Given the description of an element on the screen output the (x, y) to click on. 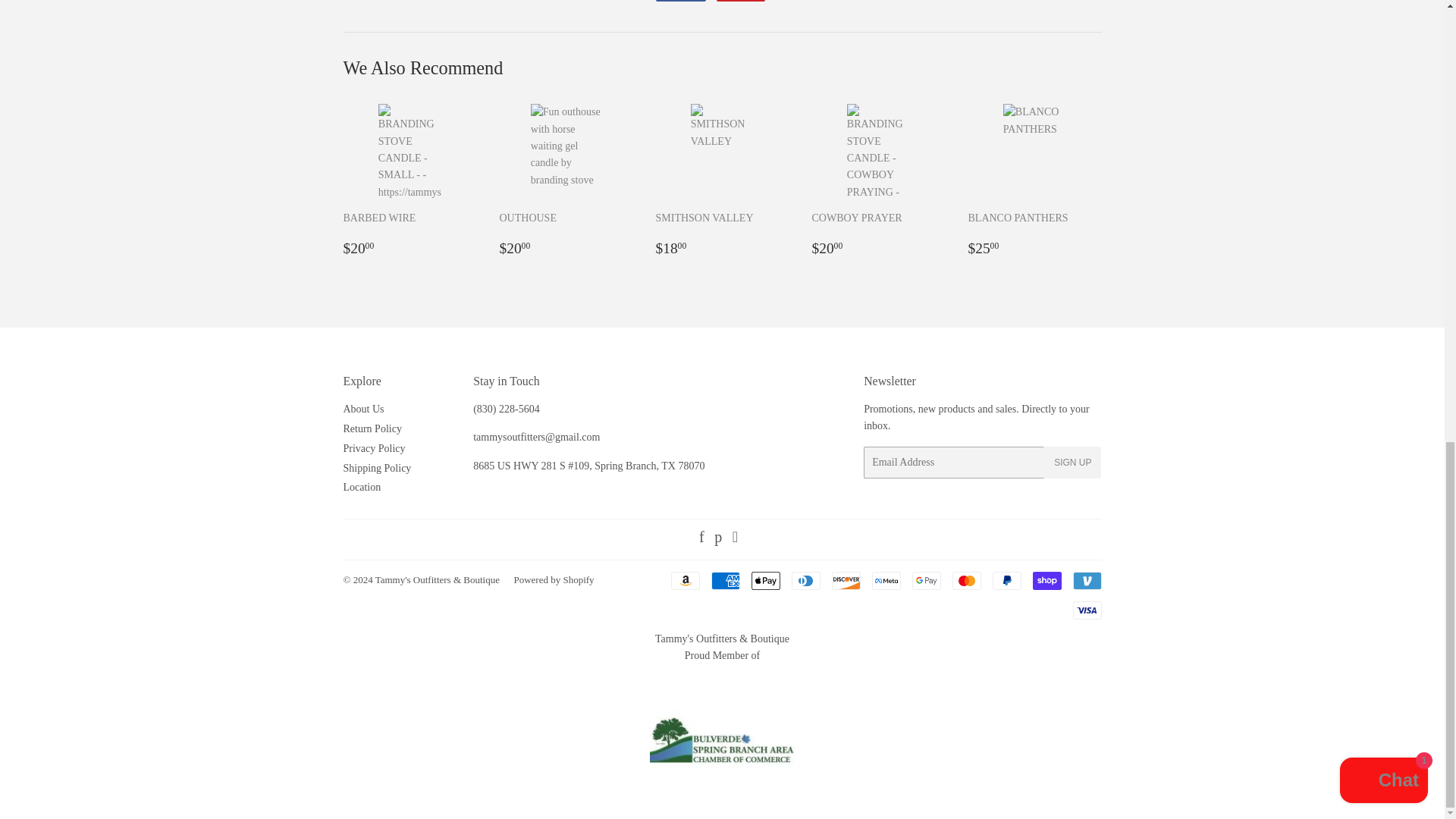
Meta Pay (886, 580)
Apple Pay (764, 580)
Shop Pay (1046, 580)
Amazon (683, 580)
Discover (845, 580)
Pin on Pinterest (740, 0)
Mastercard (966, 580)
Share on Facebook (679, 0)
PayPal (1005, 580)
Visa (1085, 610)
Google Pay (925, 580)
American Express (725, 580)
Diners Club (806, 580)
Venmo (1085, 580)
Bulverde Spring Branch Area Chamber of Commerce (721, 736)
